Given the description of an element on the screen output the (x, y) to click on. 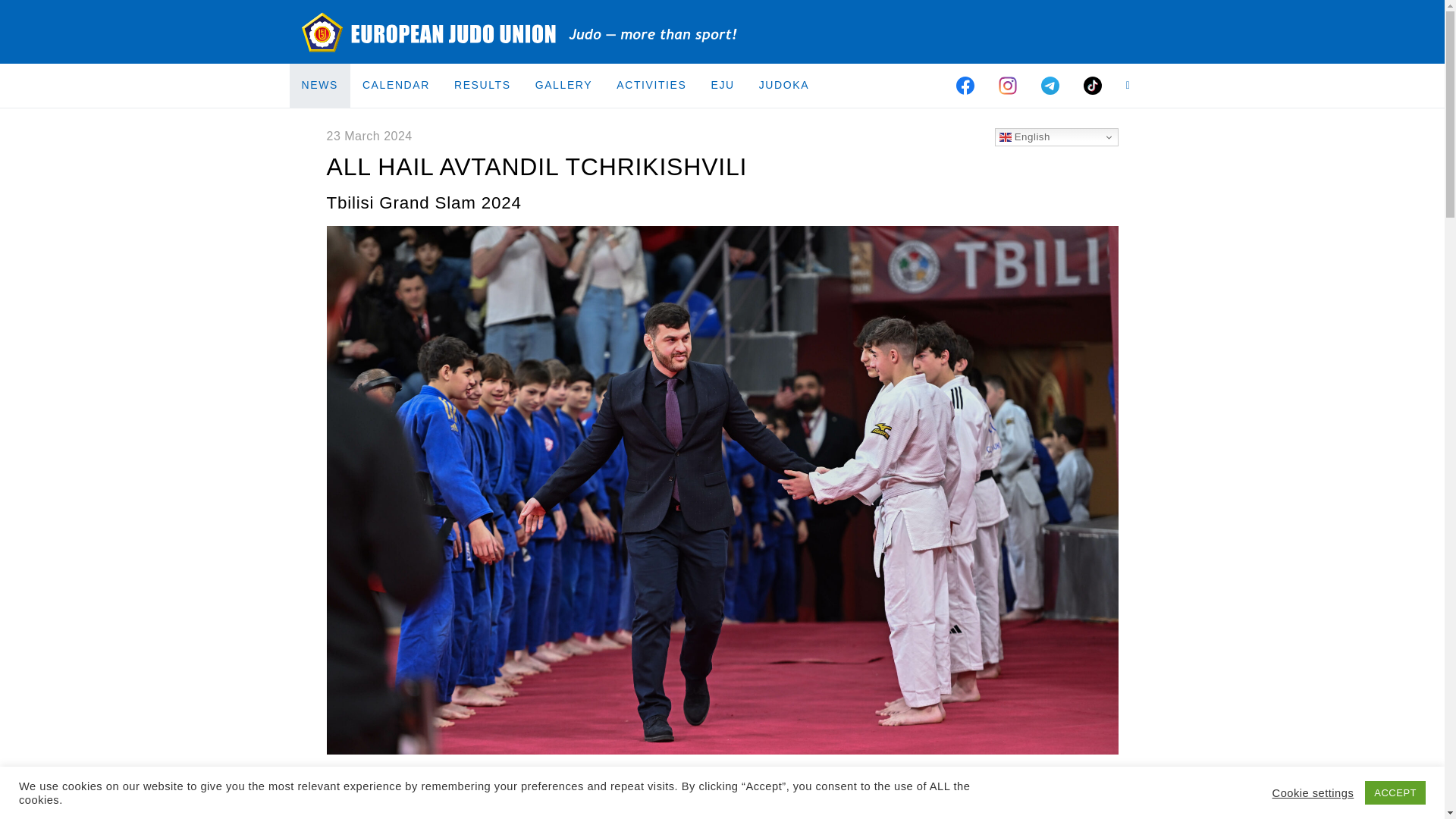
NEWS (319, 85)
Results (482, 85)
Judoka (783, 85)
Calendar (396, 85)
Facebook (965, 85)
Instagram (1008, 85)
JUDOKA (783, 85)
CALENDAR (396, 85)
EJU (721, 85)
EJU (721, 85)
Activities (651, 85)
European Judo Union (520, 31)
ACTIVITIES (651, 85)
RESULTS (482, 85)
Gallery (563, 85)
